Given the description of an element on the screen output the (x, y) to click on. 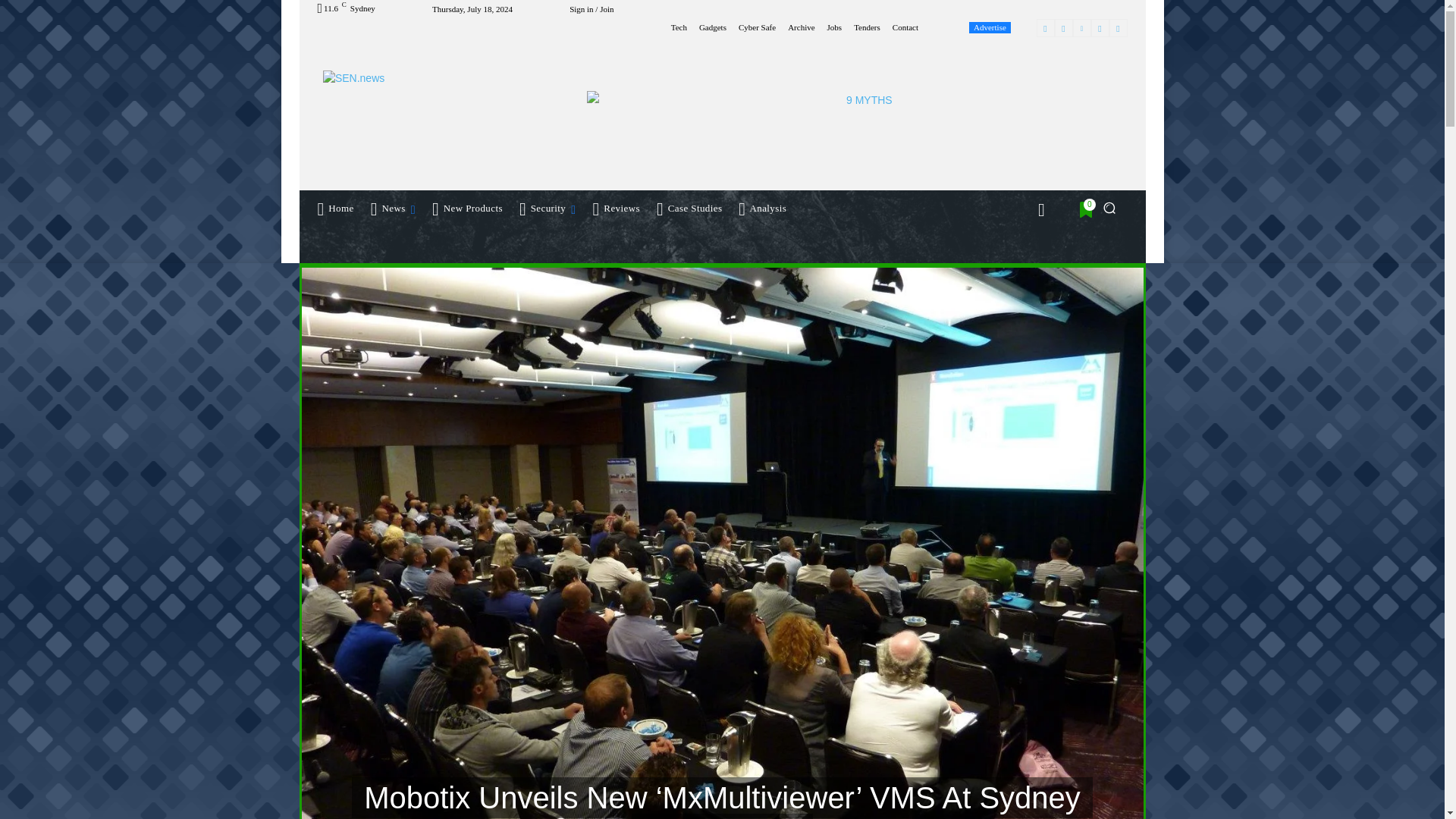
Archive (800, 27)
News (393, 208)
Cyber Safe (757, 27)
Home (335, 208)
Contact (905, 27)
Gadgets (712, 27)
Linkedin (1080, 27)
Tenders (866, 27)
Tech (679, 27)
Twitter (1099, 27)
Security and Electronics News (425, 104)
Youtube (1117, 27)
Jobs (835, 27)
Advertise (989, 27)
Instagram (1062, 27)
